Given the description of an element on the screen output the (x, y) to click on. 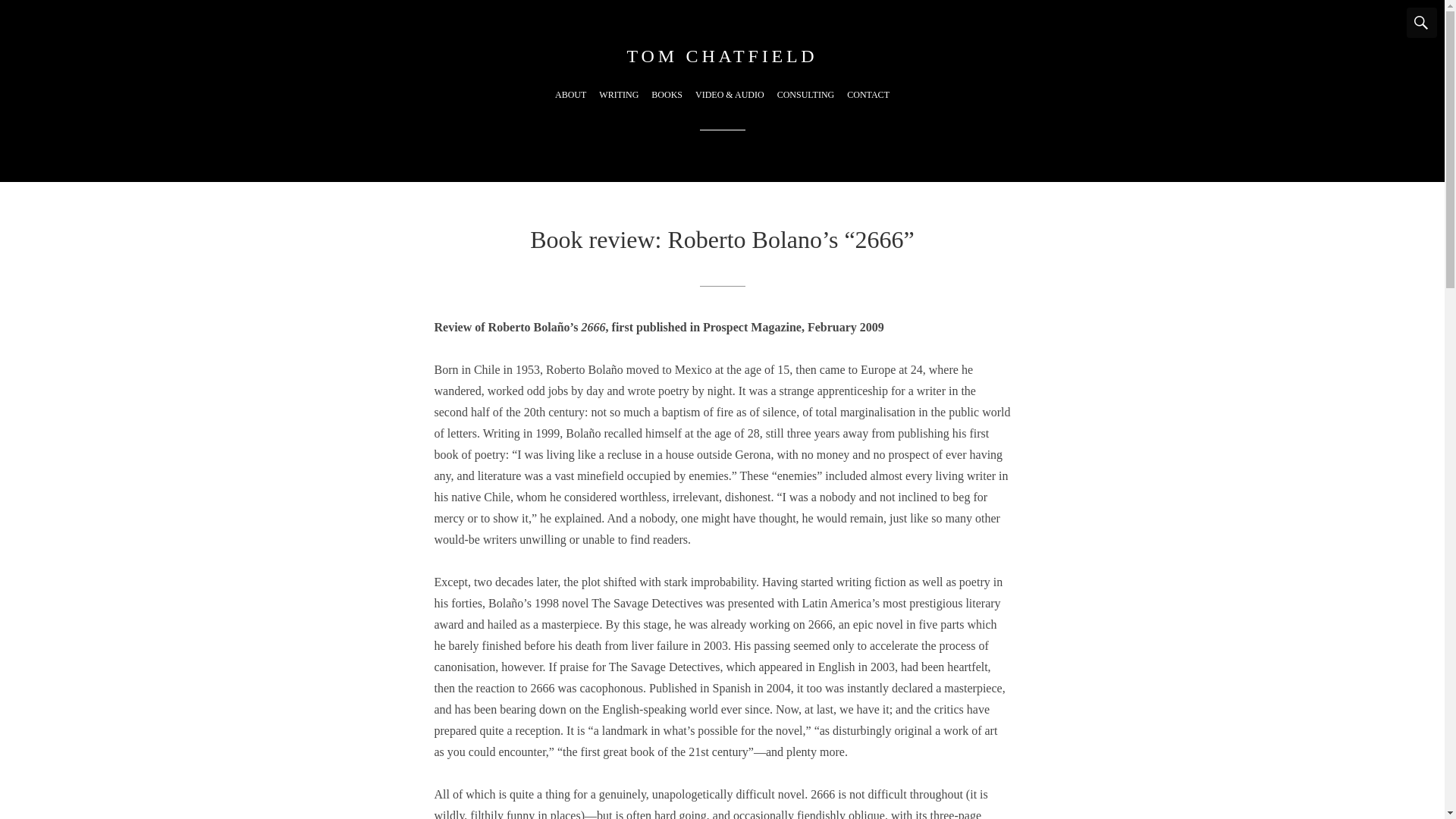
CONSULTING (805, 94)
BOOKS (666, 94)
WRITING (618, 94)
ABOUT (570, 94)
SEARCH (1421, 22)
CONTACT (868, 94)
TOM CHATFIELD (722, 55)
